Given the description of an element on the screen output the (x, y) to click on. 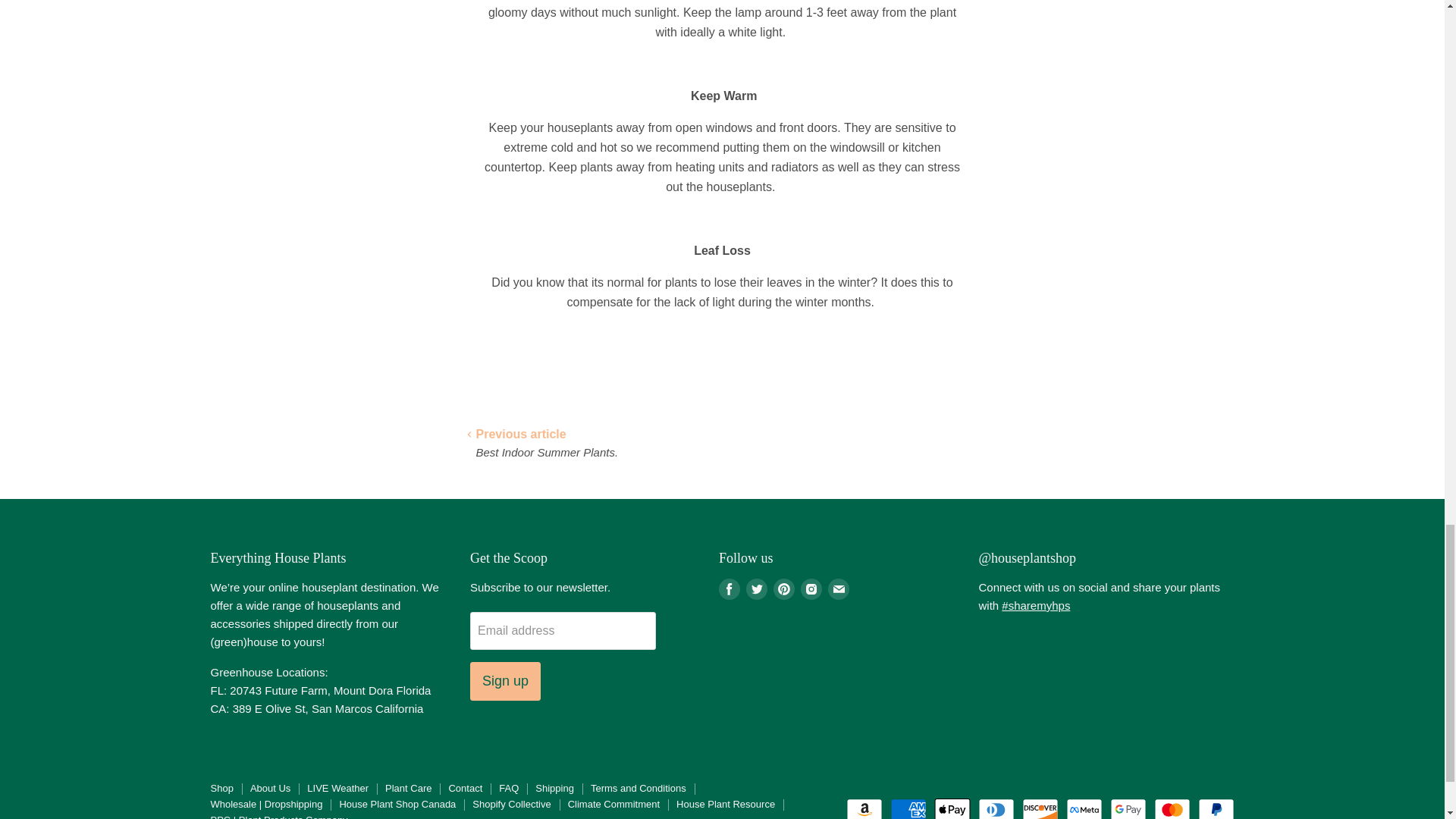
Amazon (863, 808)
E-mail (838, 588)
Instagram (811, 588)
Facebook (729, 588)
American Express (907, 808)
Pinterest (783, 588)
Twitter (756, 588)
Apple Pay (952, 808)
